Given the description of an element on the screen output the (x, y) to click on. 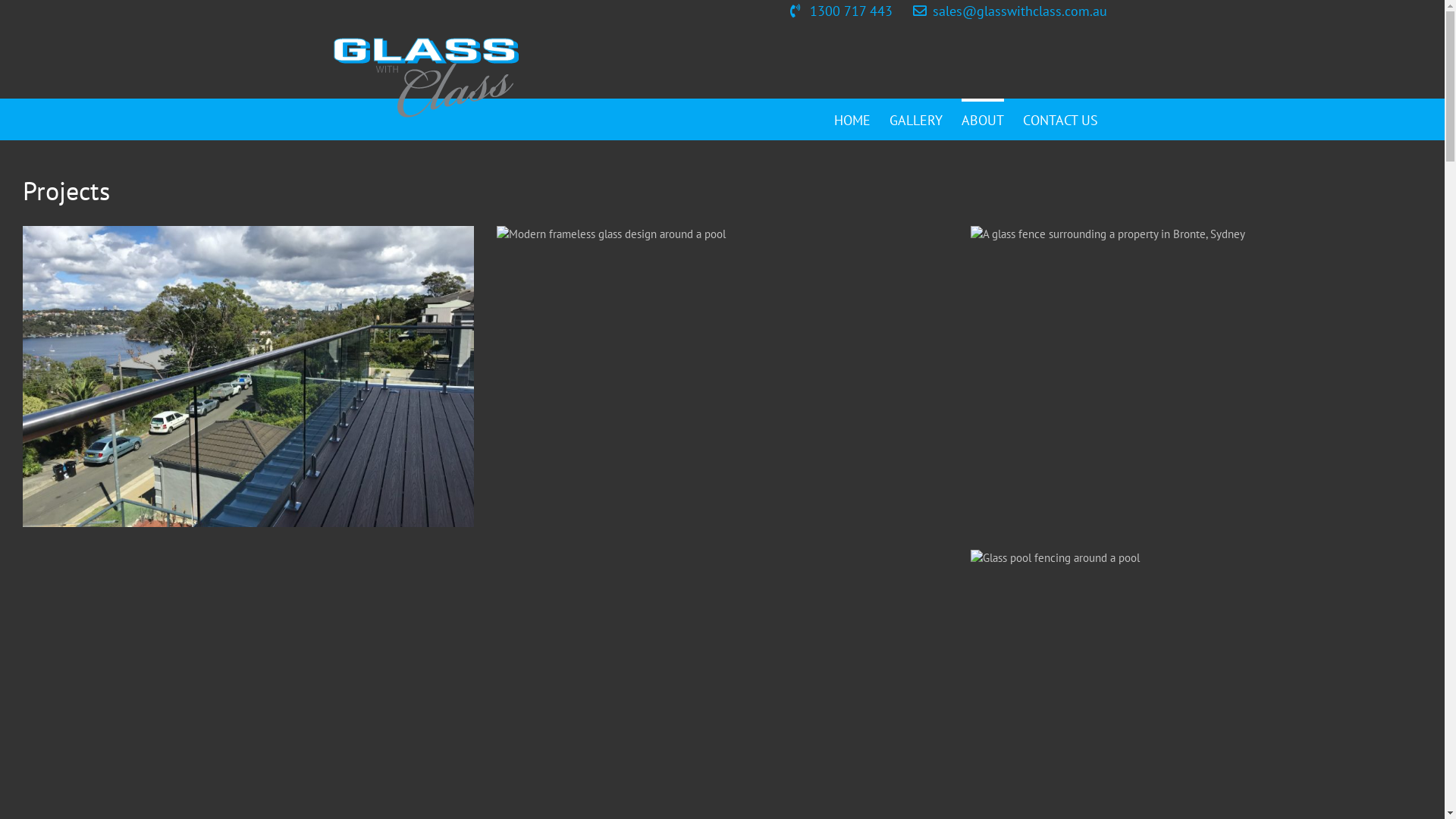
sales@glasswithclass.com.au Element type: text (1009, 10)
ABOUT Element type: text (982, 118)
GALLERY Element type: text (914, 118)
CONTACT US Element type: text (1059, 118)
HOME Element type: text (852, 118)
1300 717 443 Element type: text (840, 10)
